Given the description of an element on the screen output the (x, y) to click on. 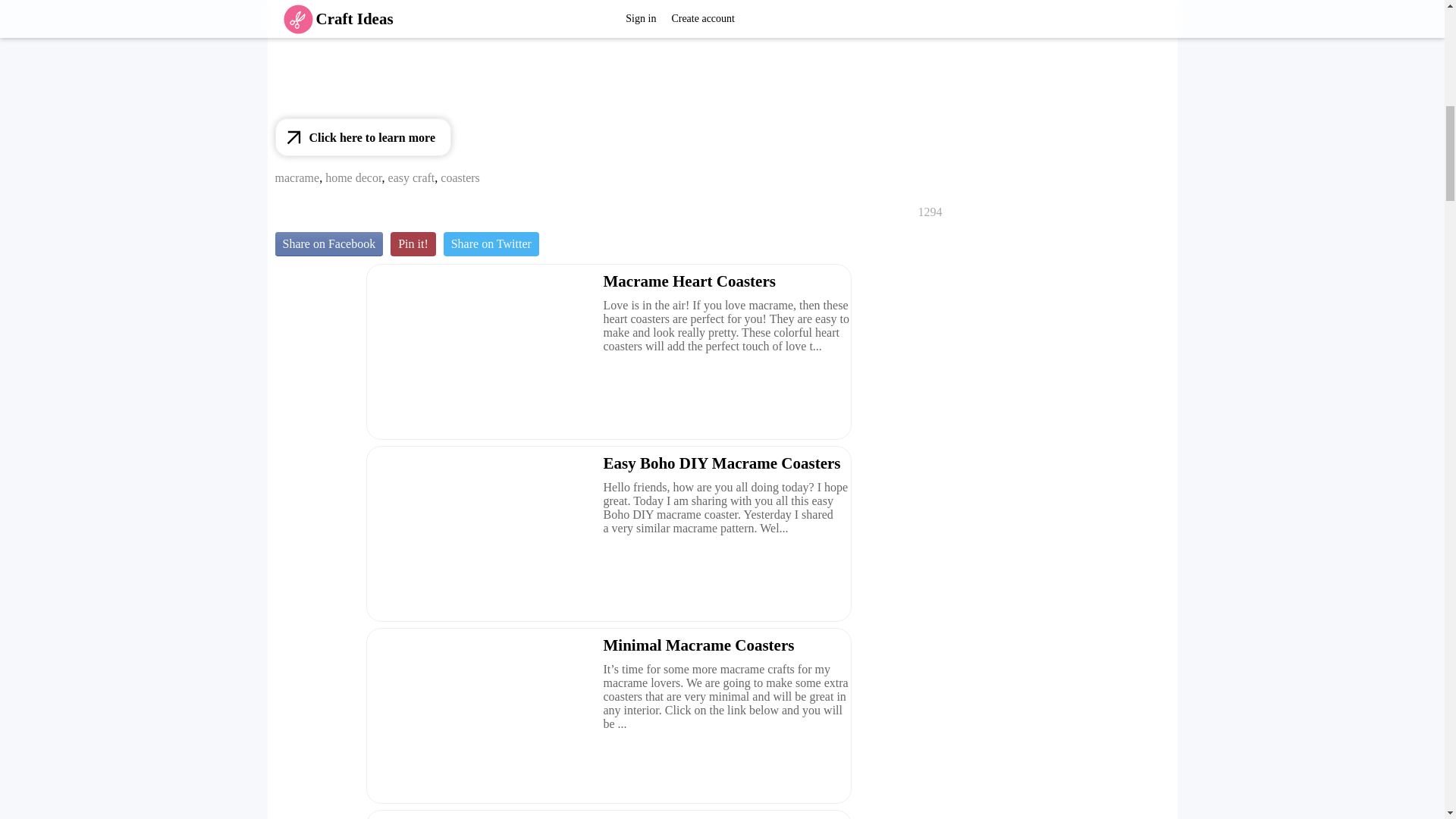
Click here to learn more (362, 136)
macrame (296, 177)
home decor (352, 177)
Share on Twitter (491, 243)
Share on Facebook (328, 243)
easy craft (411, 177)
Pin it! (412, 243)
